Given the description of an element on the screen output the (x, y) to click on. 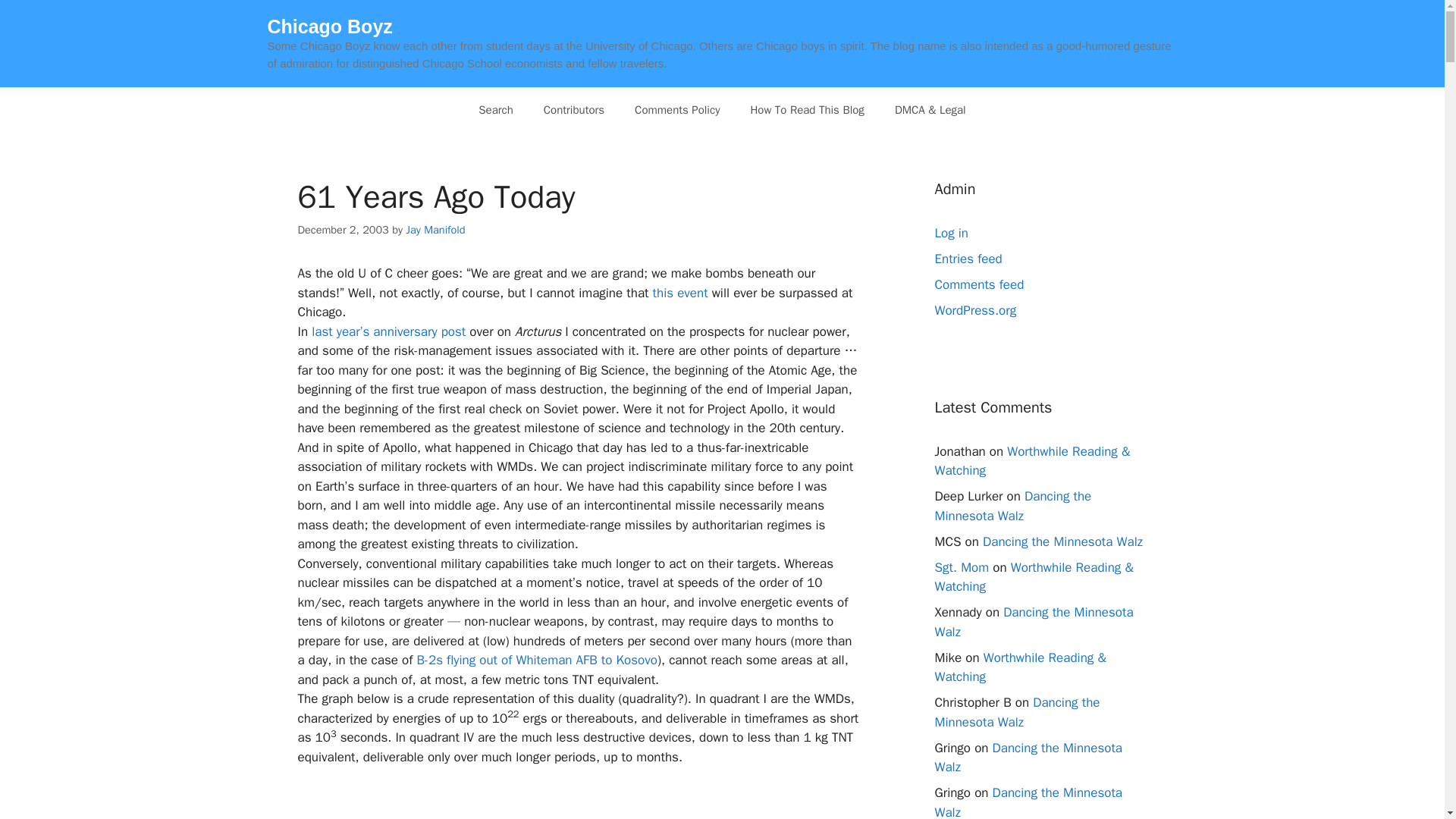
B-2s flying out of Whiteman AFB to Kosovo (537, 659)
Contributors (574, 109)
View all posts by Jay Manifold (435, 229)
How To Read This Blog (807, 109)
Search (495, 109)
Jay Manifold (435, 229)
Chicago Boyz (328, 25)
Comments Policy (677, 109)
this event (679, 293)
